Given the description of an element on the screen output the (x, y) to click on. 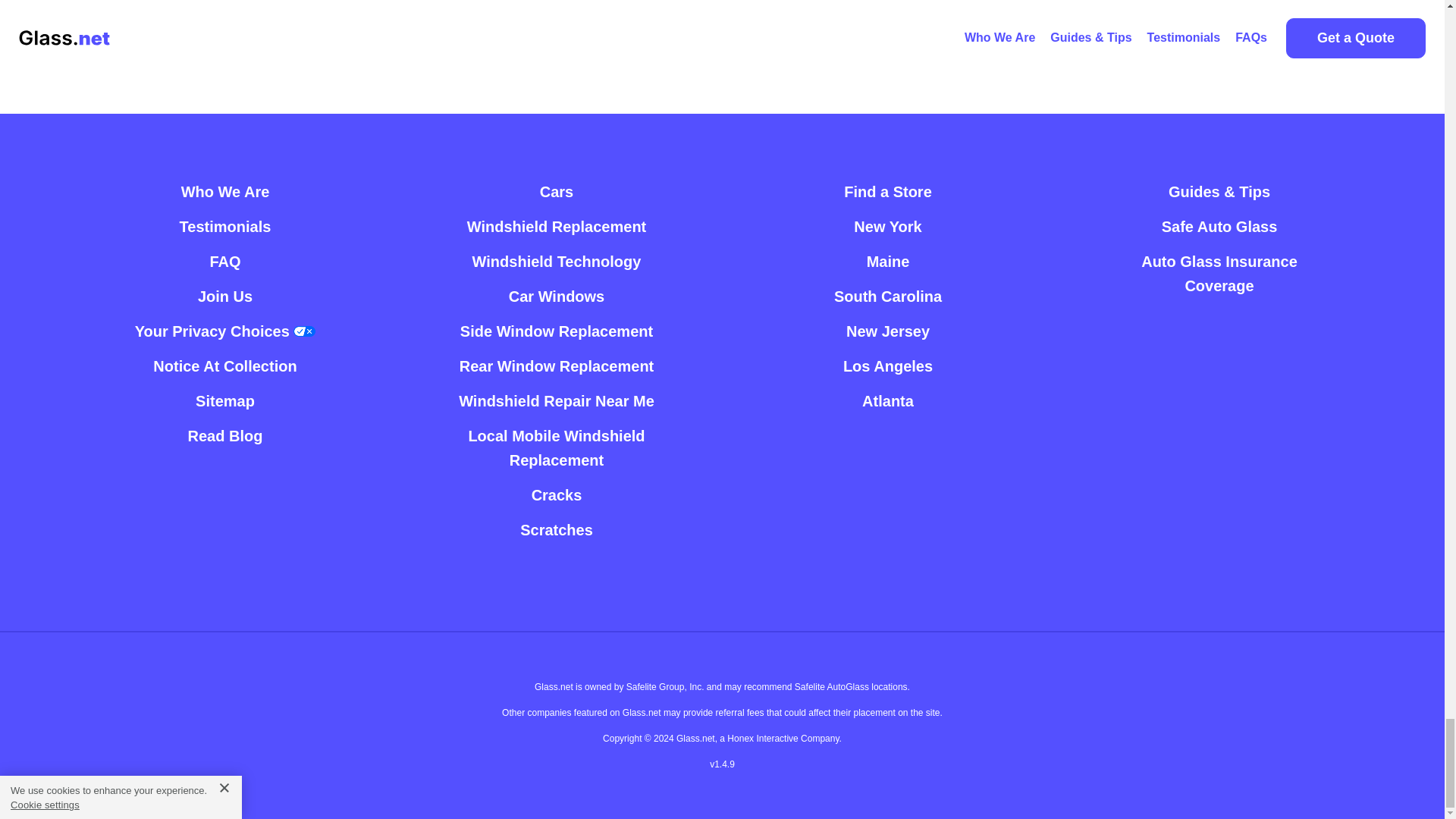
Read Blog (225, 435)
Who We Are (224, 191)
Sitemap (224, 401)
A Market Place for Car Glass (224, 191)
Testimonials (224, 226)
Repair or Replace Auto Glass By Car Make (556, 191)
Cars (556, 191)
 Local Windshield Replacement (556, 226)
Your Privacy Choices (225, 330)
Mobile Glass Shops Join Glass.NET (224, 296)
Rear Window Replacement (556, 366)
Side Window Replacement (556, 330)
FAQ (224, 261)
Your Privacy Choices (225, 330)
Notice At Collection  (224, 366)
